Given the description of an element on the screen output the (x, y) to click on. 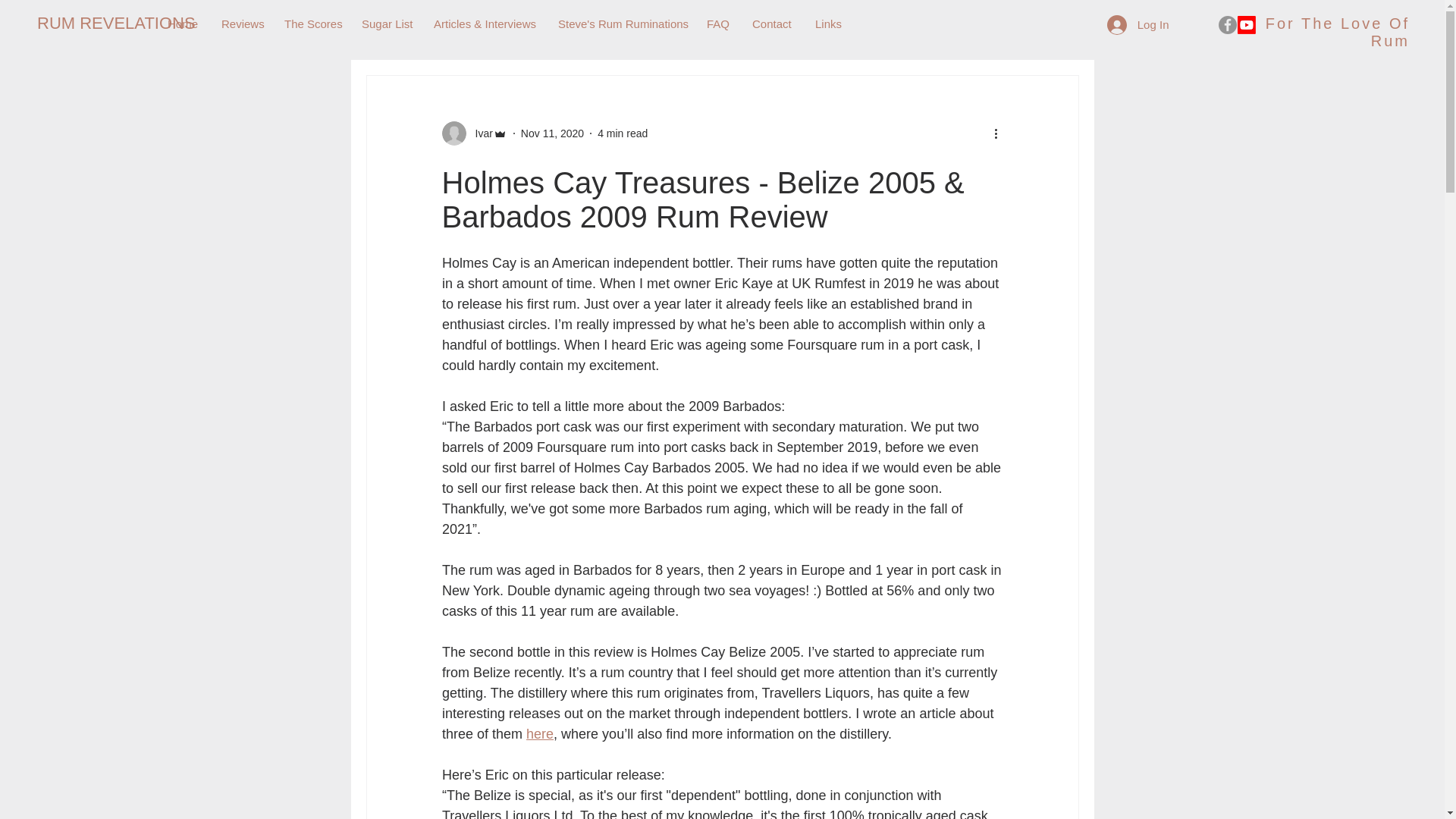
Ivar (473, 133)
Sugar List (386, 24)
Steve's Rum Ruminations (621, 24)
Reviews (241, 24)
4 min read (621, 133)
FAQ (718, 24)
Log In (1137, 24)
Ivar (478, 133)
Links (827, 24)
Nov 11, 2020 (552, 133)
